Given the description of an element on the screen output the (x, y) to click on. 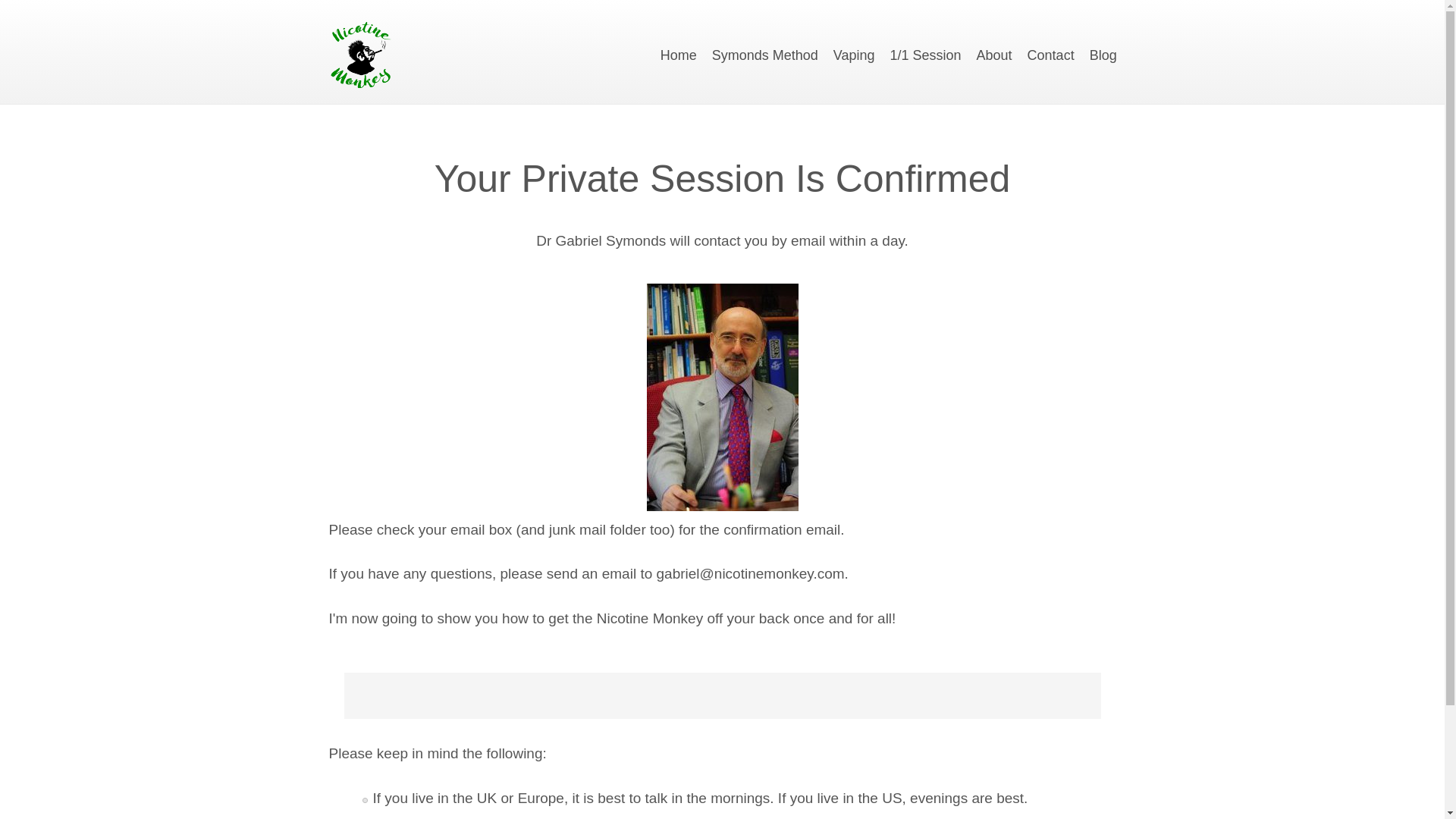
Vaping (853, 55)
About (993, 55)
Blog (1102, 55)
Contact (1050, 55)
Home (679, 55)
Symonds Method (764, 55)
